Given the description of an element on the screen output the (x, y) to click on. 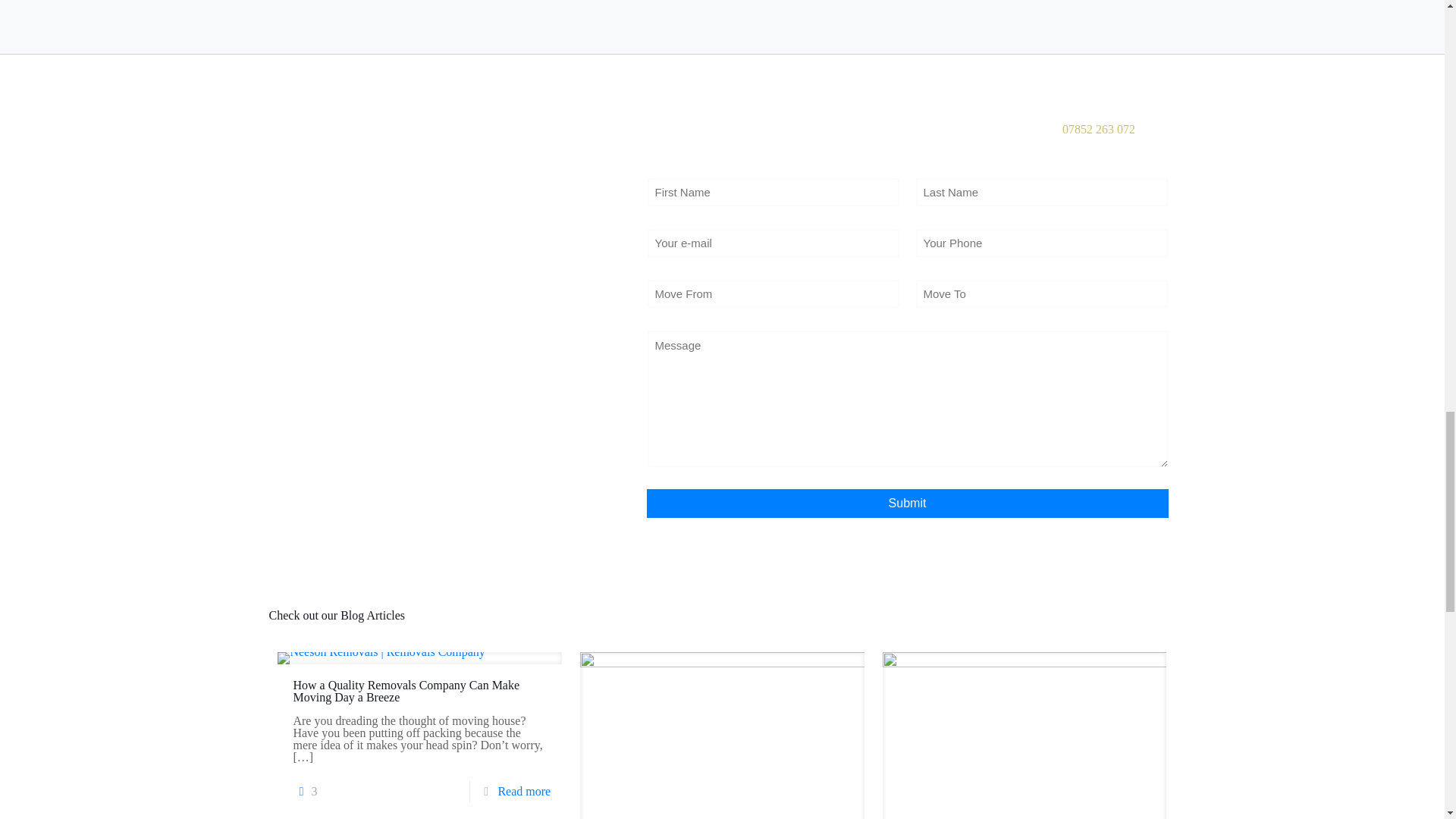
3 (304, 791)
Submit (906, 502)
How a Quality Removals Company Can Make Moving Day a Breeze (405, 690)
Read more (523, 790)
Submit (906, 502)
